Given the description of an element on the screen output the (x, y) to click on. 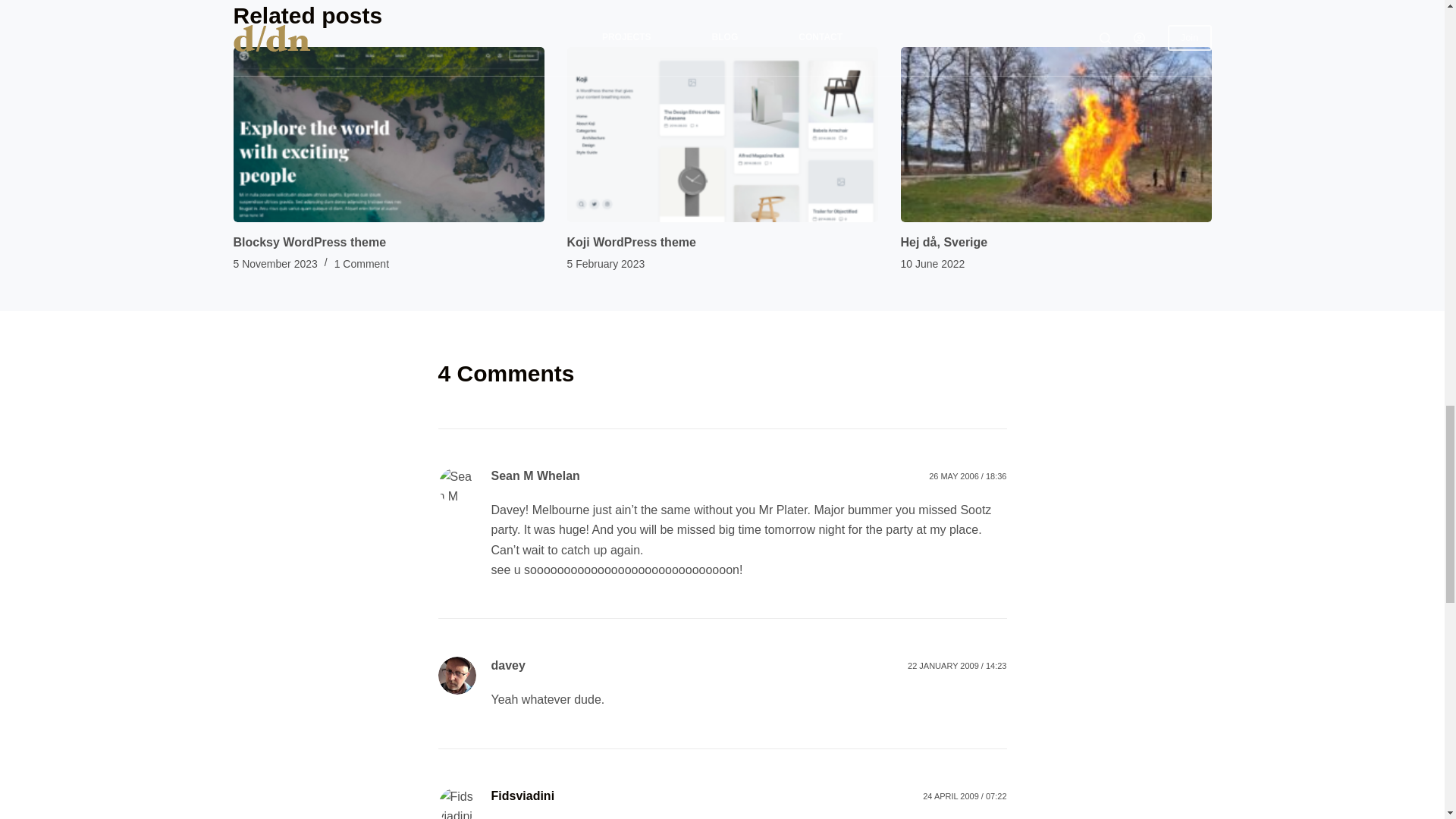
Blocksy WordPress theme (309, 241)
Koji WordPress theme (631, 241)
Sean M Whelan (535, 475)
1 Comment (361, 263)
